Given the description of an element on the screen output the (x, y) to click on. 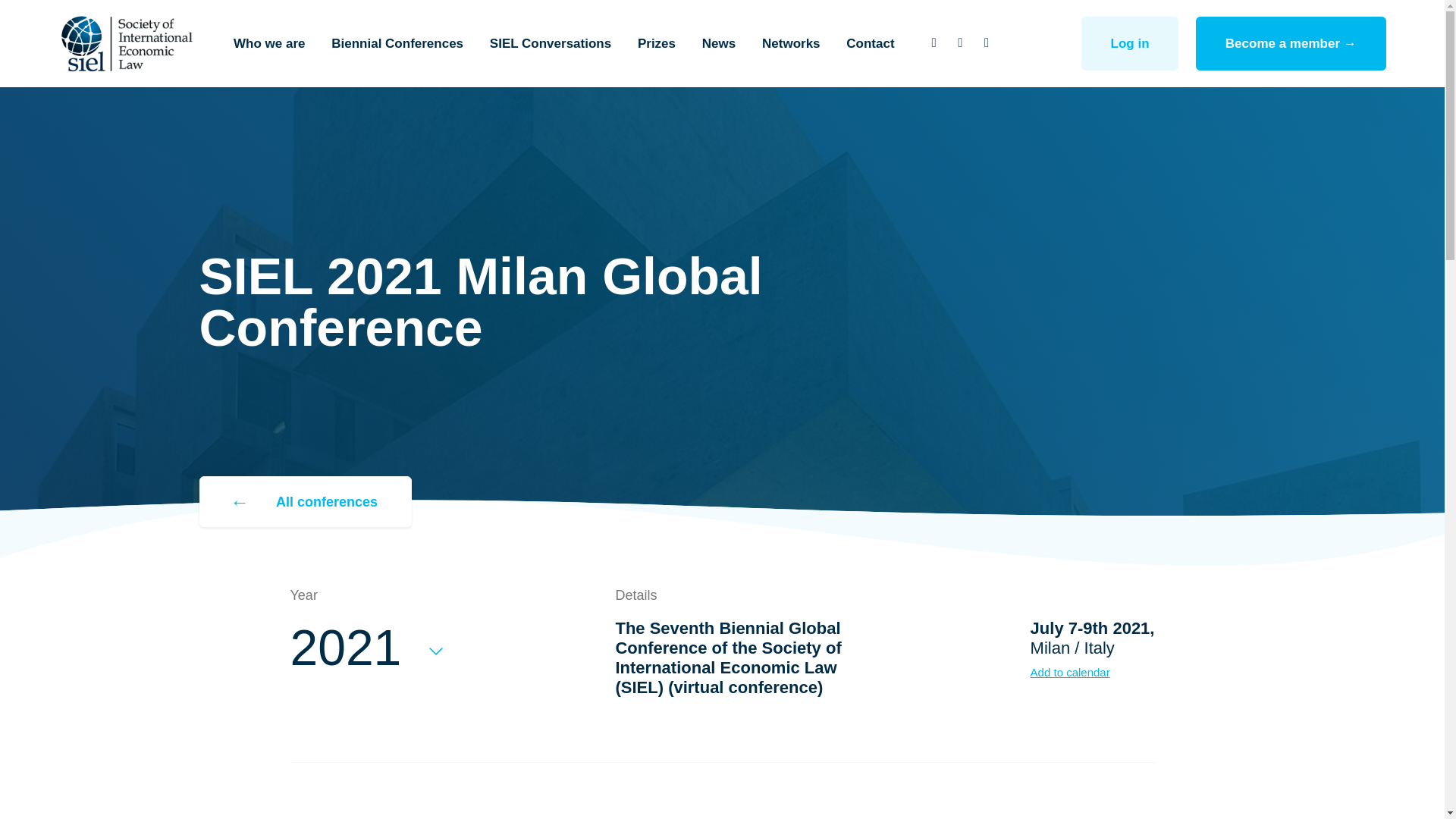
SIEL Conversations (550, 42)
Society of International Economic Law (126, 42)
Biennial Conferences (397, 42)
News (718, 42)
Who we are (269, 42)
Prizes (655, 42)
